Given the description of an element on the screen output the (x, y) to click on. 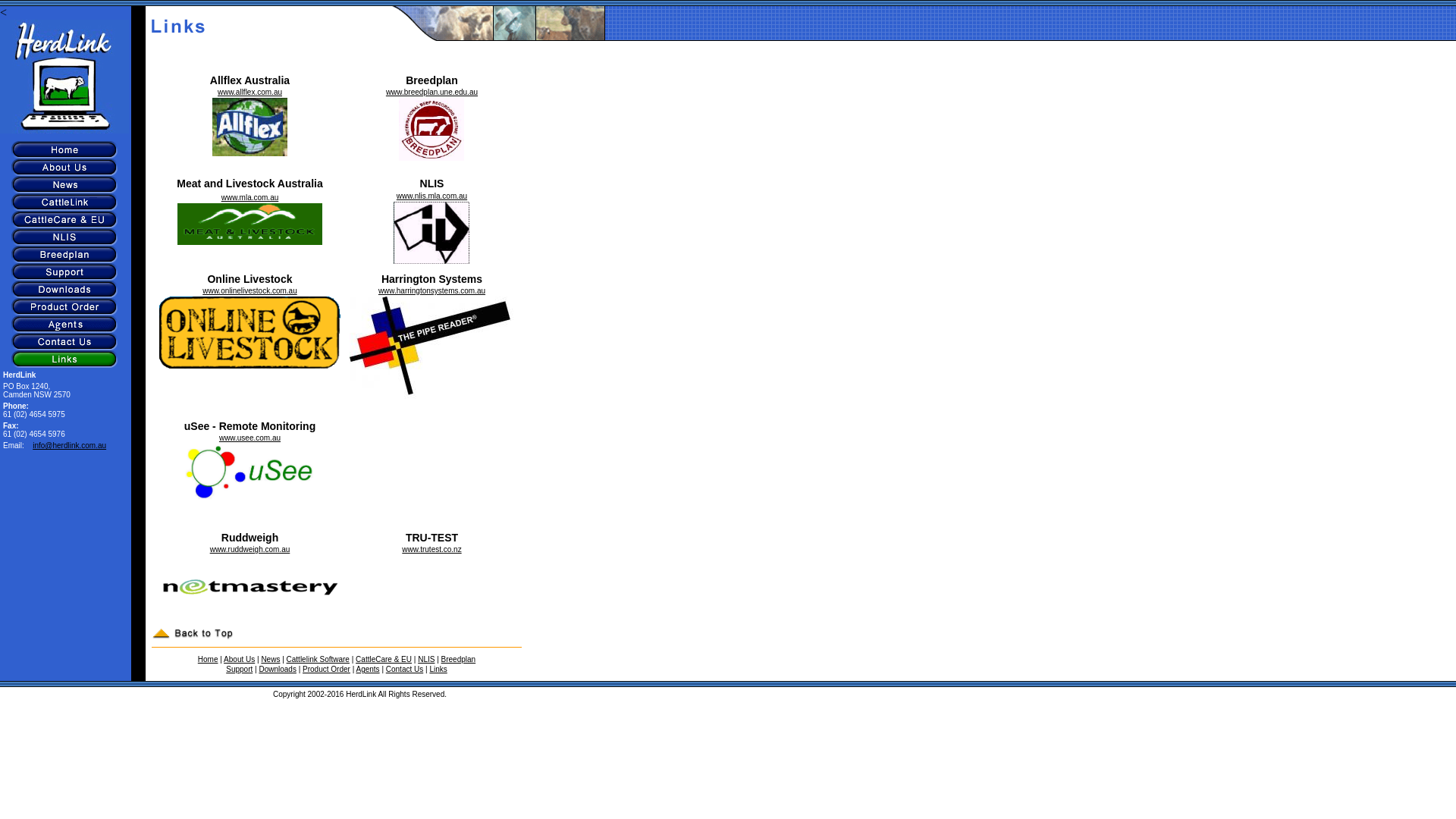
Downloads Element type: text (276, 669)
www.ruddweigh.com.au Element type: text (250, 549)
Links Element type: text (437, 669)
Agents Element type: text (367, 669)
Product Order Element type: text (326, 669)
info@herdlink.com.au Element type: text (69, 445)
Breedplan Element type: text (458, 659)
www.allflex.com.au Element type: text (249, 91)
About Us Element type: text (238, 659)
www.harringtonsystems.com.au Element type: text (431, 290)
Contact Us Element type: text (404, 669)
www.usee.com.au Element type: text (249, 437)
NLIS Element type: text (425, 659)
www.mla.com.au Element type: text (250, 197)
News Element type: text (269, 659)
www.trutest.co.nz Element type: text (431, 549)
Cattlelink Software Element type: text (317, 659)
CattleCare & EU Element type: text (383, 659)
www.nlis.mla.com.au Element type: text (431, 195)
www.breedplan.une.edu.au Element type: text (431, 91)
Support Element type: text (238, 669)
Home Element type: text (207, 659)
www.onlinelivestock.com.au Element type: text (249, 290)
